Given the description of an element on the screen output the (x, y) to click on. 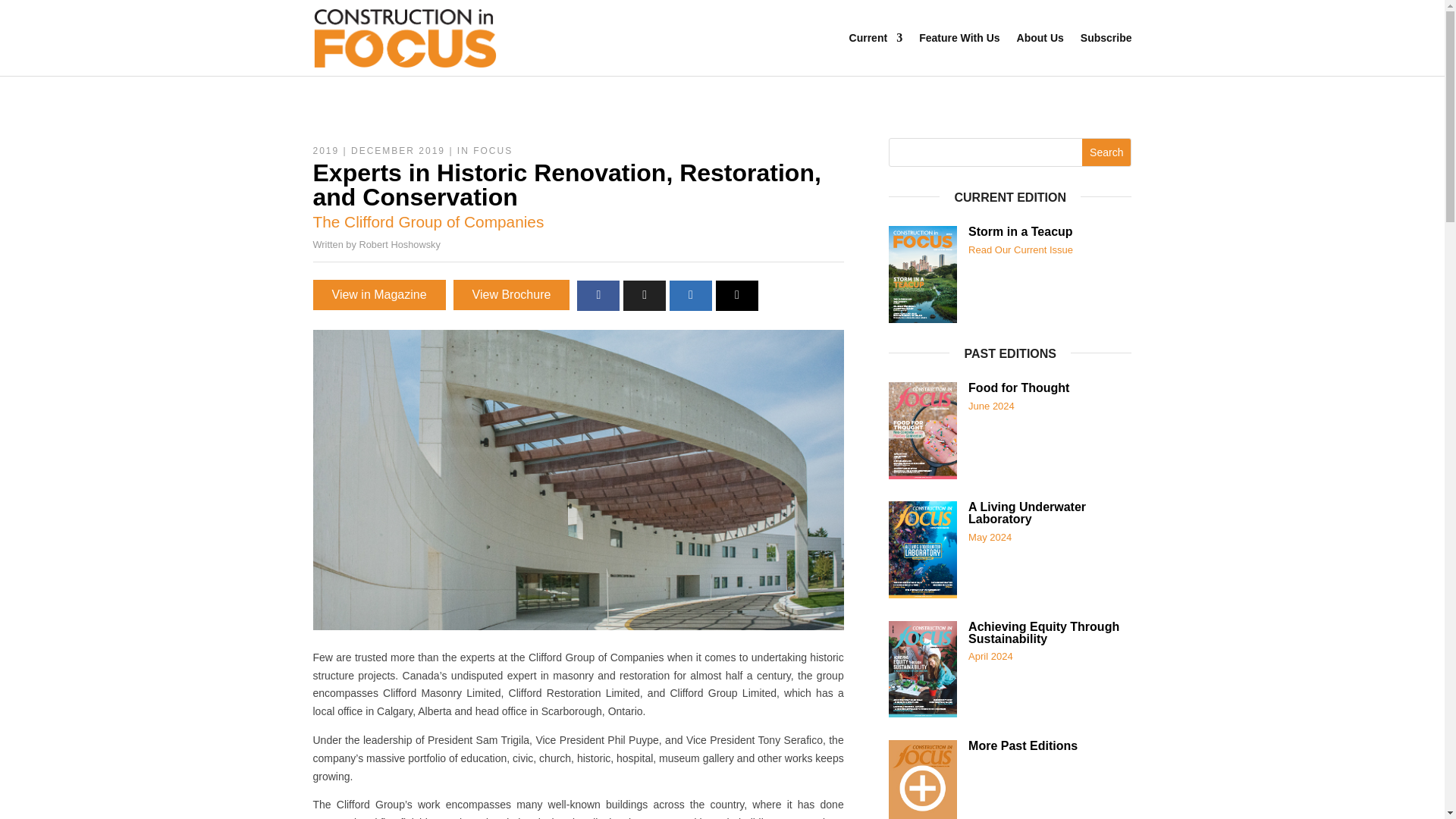
About Us (1040, 37)
DECEMBER 2019 (397, 150)
View Brochure (511, 295)
Search (1106, 152)
IN FOCUS (484, 150)
Subscribe (1106, 37)
Robert Hoshowsky (398, 244)
Feature With Us (958, 37)
Search (1106, 152)
View in Magazine (379, 295)
2019 (326, 150)
Current (875, 37)
